Given the description of an element on the screen output the (x, y) to click on. 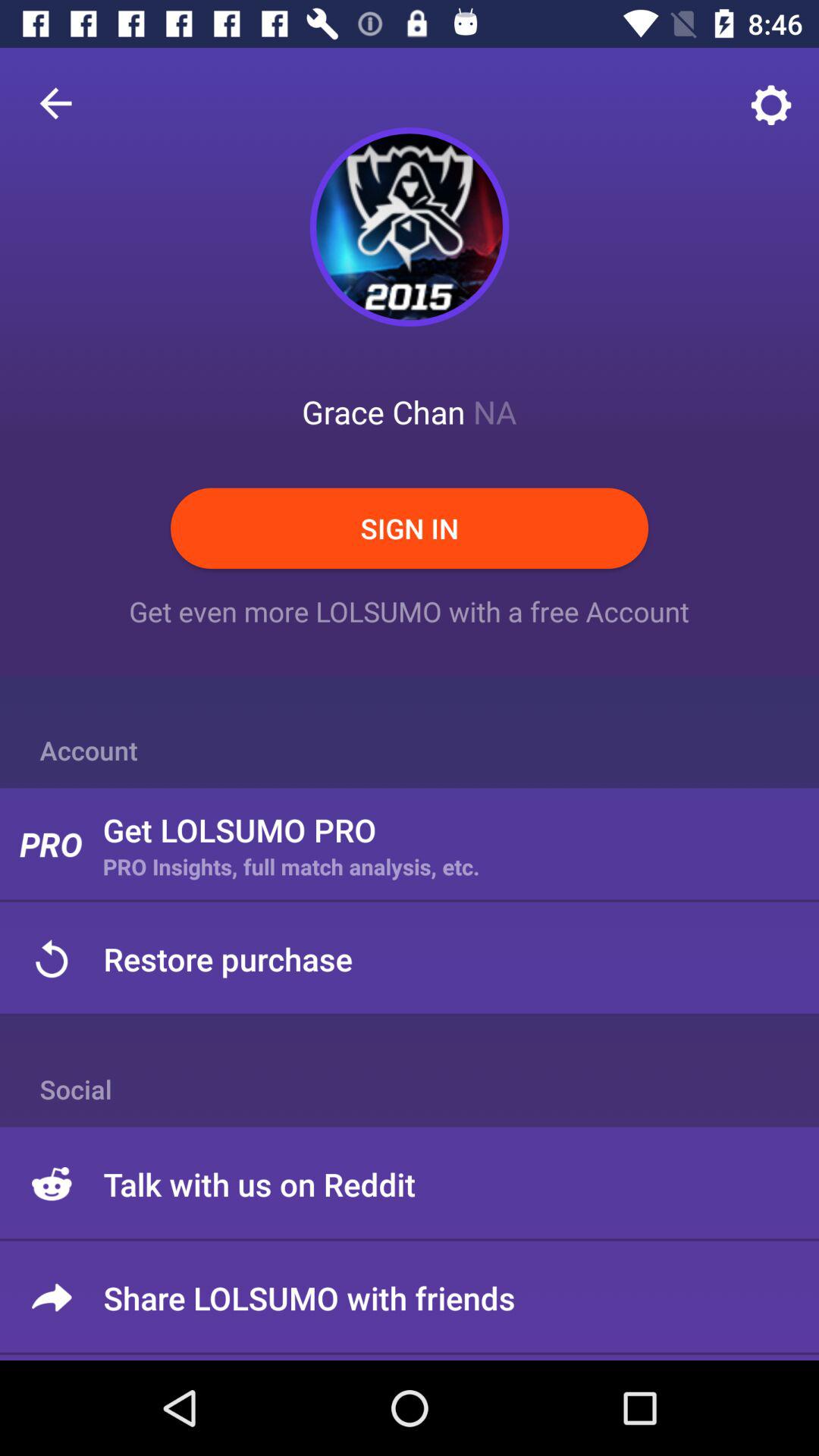
tap item above get even more icon (409, 527)
